Given the description of an element on the screen output the (x, y) to click on. 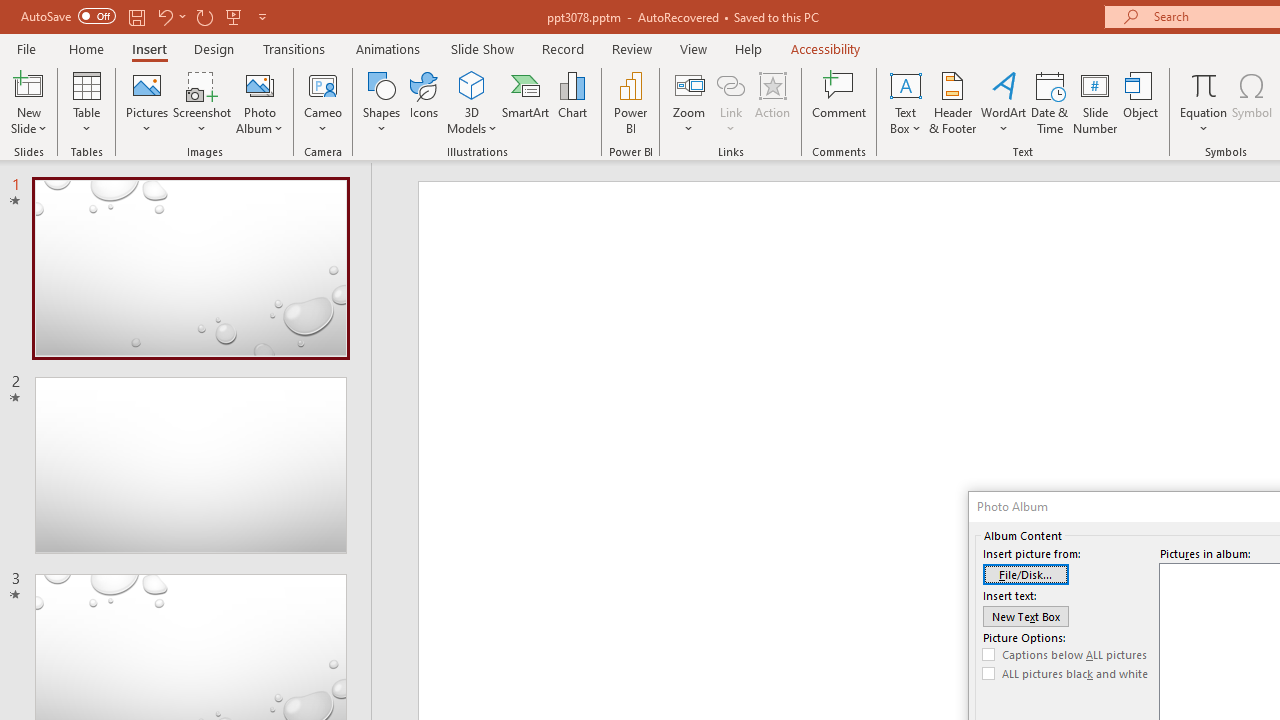
SmartArt... (525, 102)
Photo Album... (259, 102)
Power BI (630, 102)
Action (772, 102)
